Given the description of an element on the screen output the (x, y) to click on. 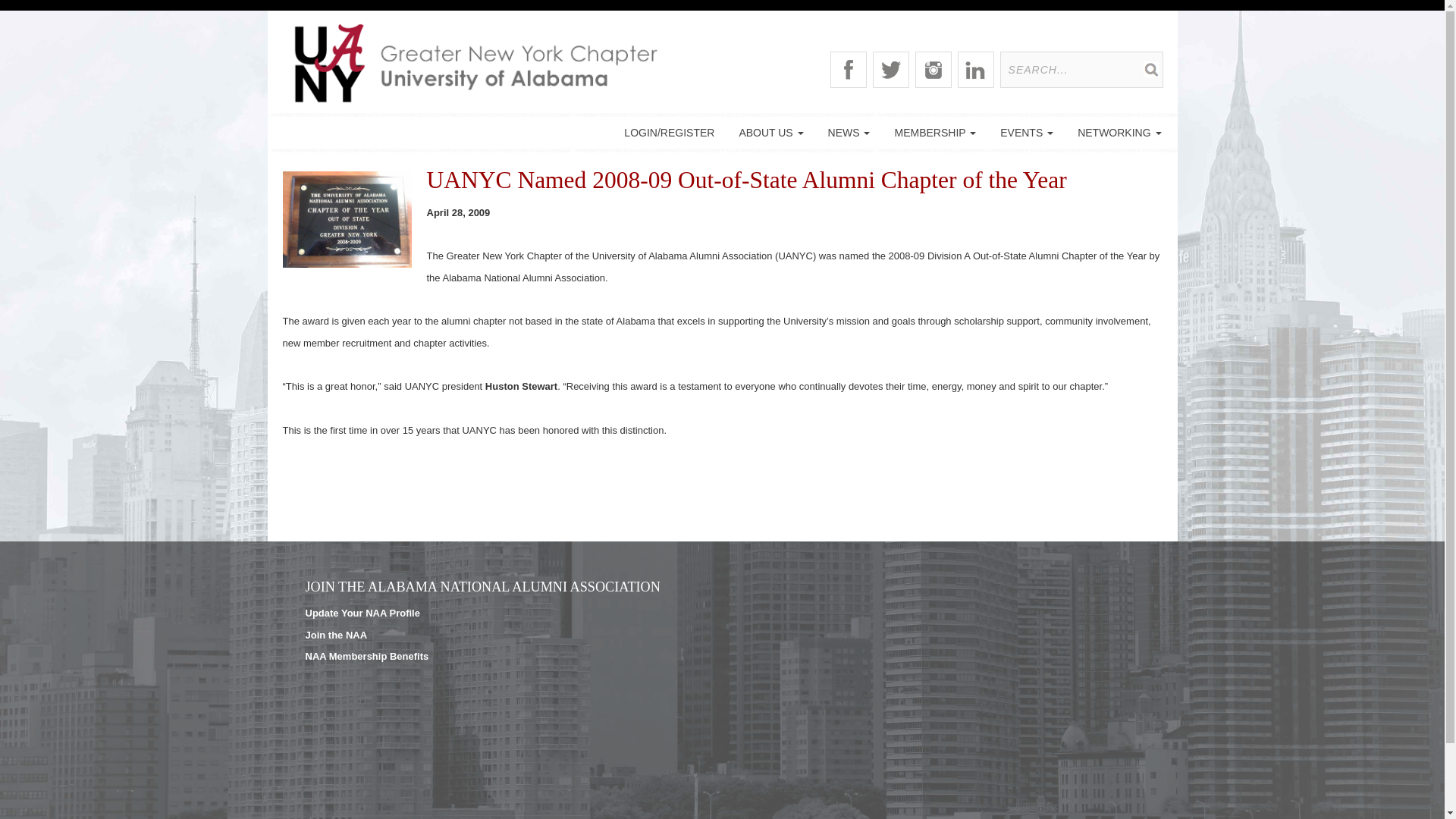
ABOUT US (770, 132)
Instagram (933, 69)
Update Your NAA Profile (361, 612)
NEWS (849, 132)
NETWORKING (1119, 132)
Facebook (847, 69)
Twitter (890, 69)
Join the NAA (335, 634)
NAA Membership Benefits (366, 655)
LinkedIn (976, 69)
MEMBERSHIP (935, 132)
EVENTS (1026, 132)
